Given the description of an element on the screen output the (x, y) to click on. 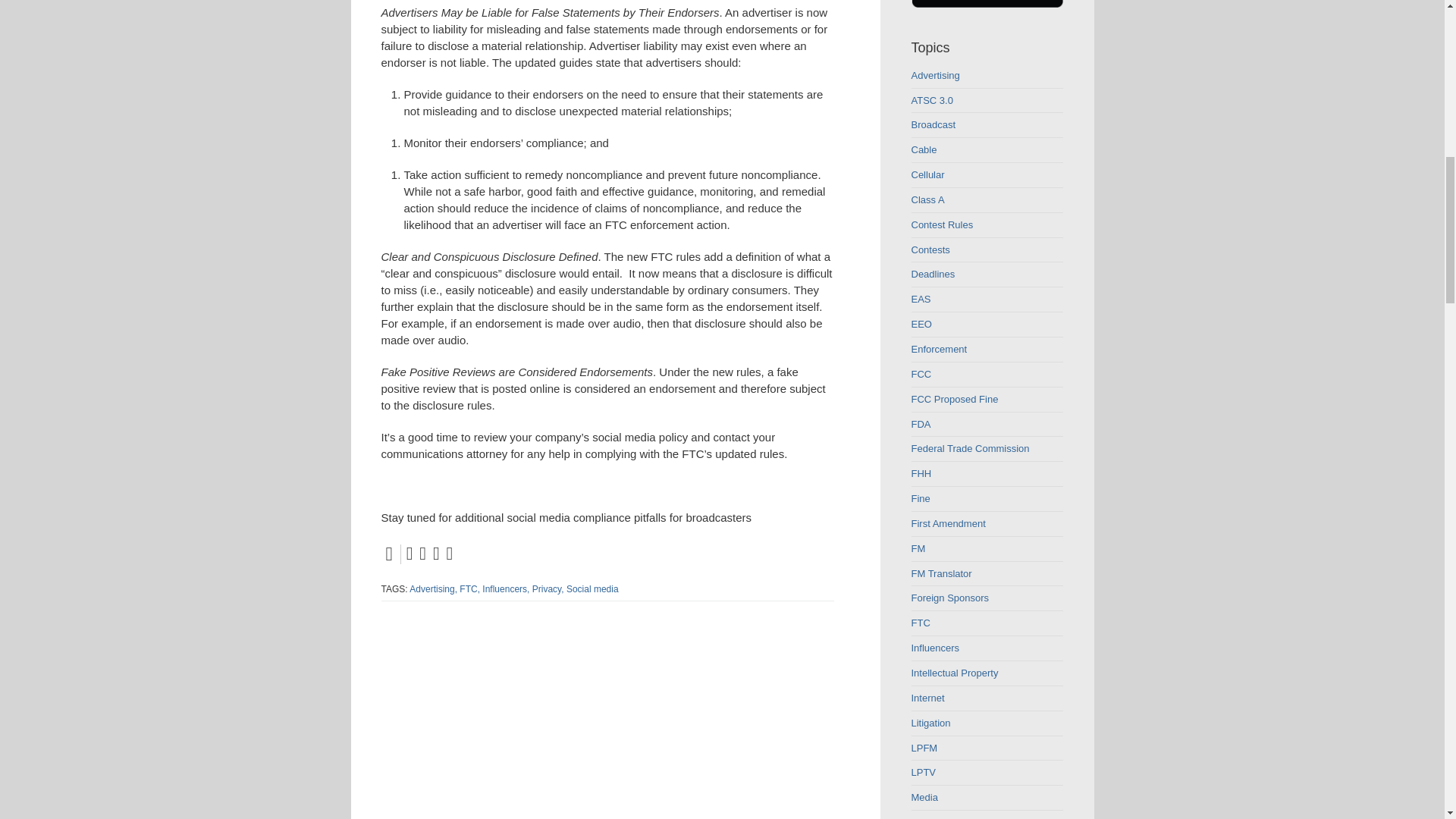
FTC, (470, 588)
Influencers, (505, 588)
Advertising, (433, 588)
Privacy, (548, 588)
Social media (592, 588)
